Given the description of an element on the screen output the (x, y) to click on. 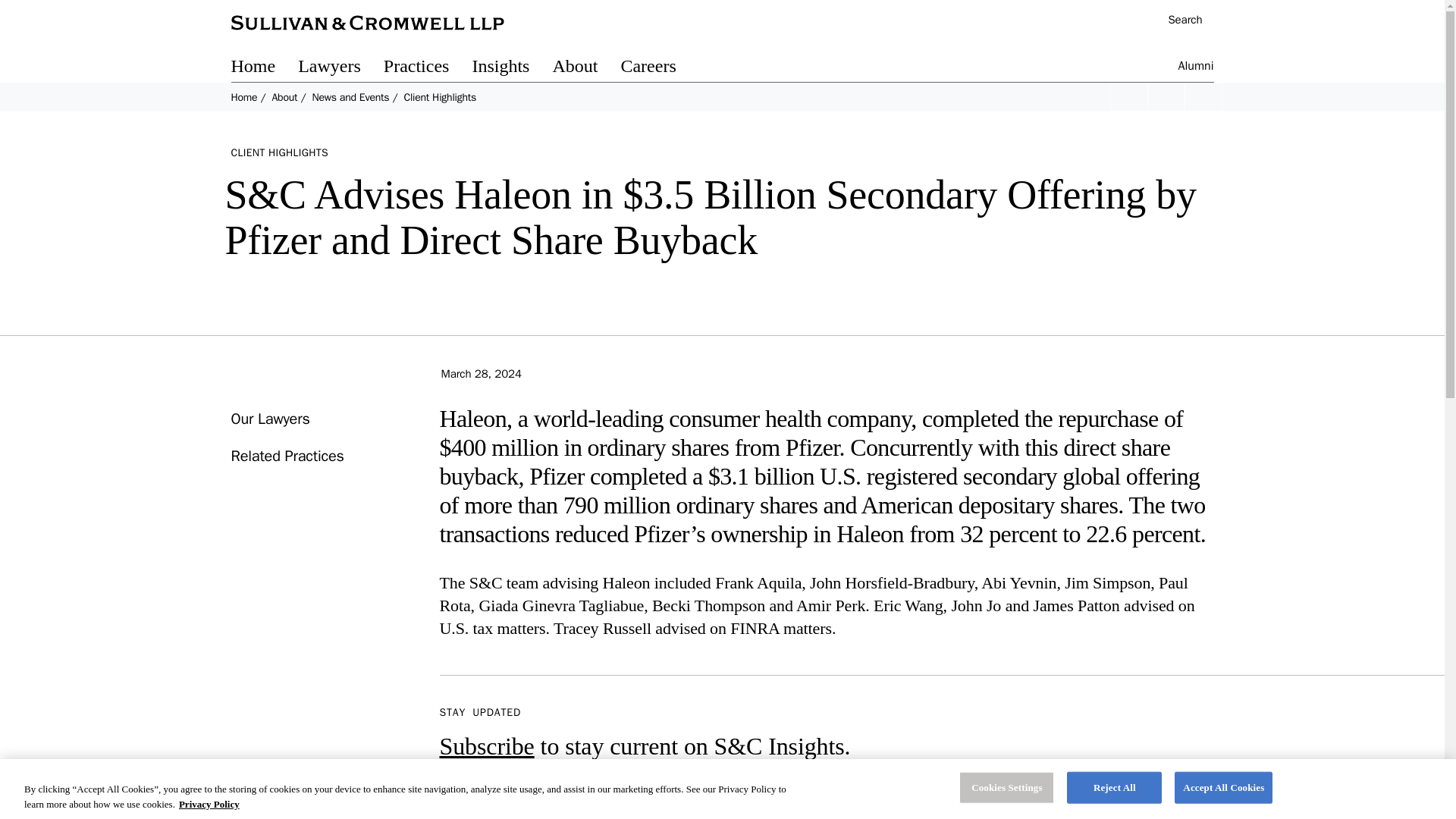
Home (264, 67)
Home (243, 97)
Alumni (1195, 67)
News and Events (349, 97)
About (585, 67)
About (283, 97)
Search (1176, 20)
Practices (427, 67)
Related Practices (286, 456)
Lawyers (341, 67)
Insights (511, 67)
Careers (659, 67)
Our Lawyers (269, 418)
Subscribe (486, 746)
